Given the description of an element on the screen output the (x, y) to click on. 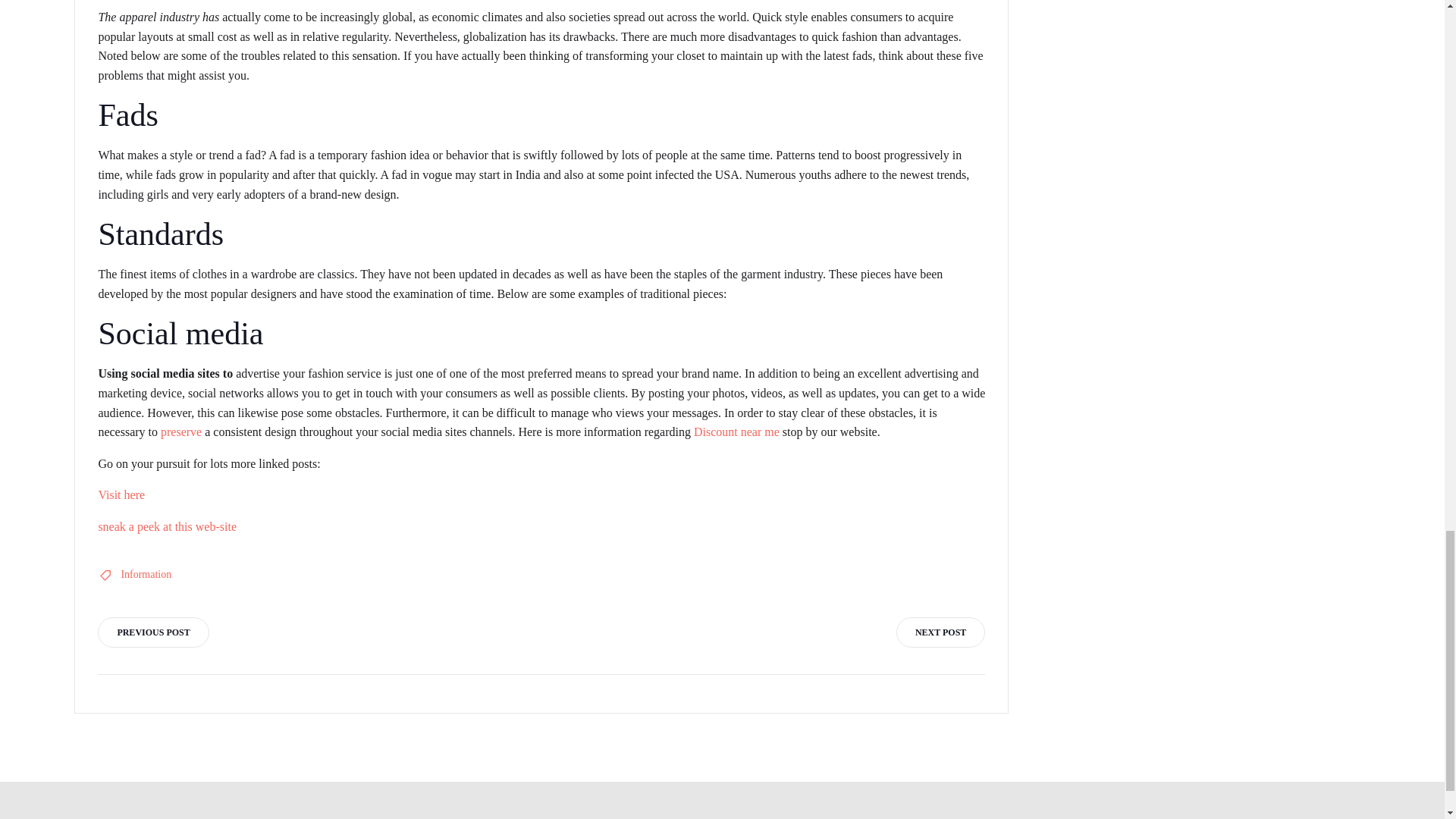
NEXT POST (940, 632)
preserve (181, 431)
Visit here (120, 494)
Discount near me (736, 431)
Information (145, 574)
Tag: Information (145, 574)
PREVIOUS POST (152, 632)
sneak a peek at this web-site (166, 526)
